Given the description of an element on the screen output the (x, y) to click on. 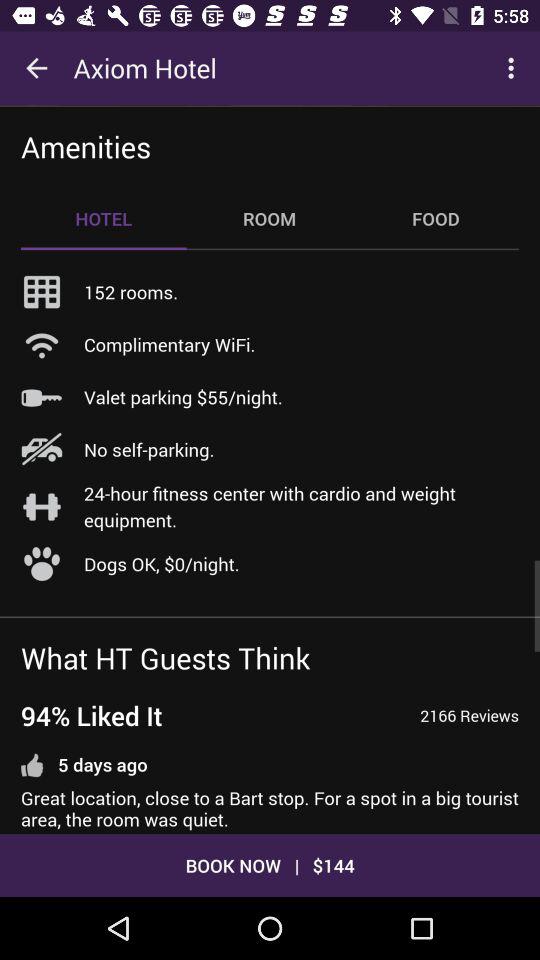
choose the complimentary wifi. (169, 344)
